Given the description of an element on the screen output the (x, y) to click on. 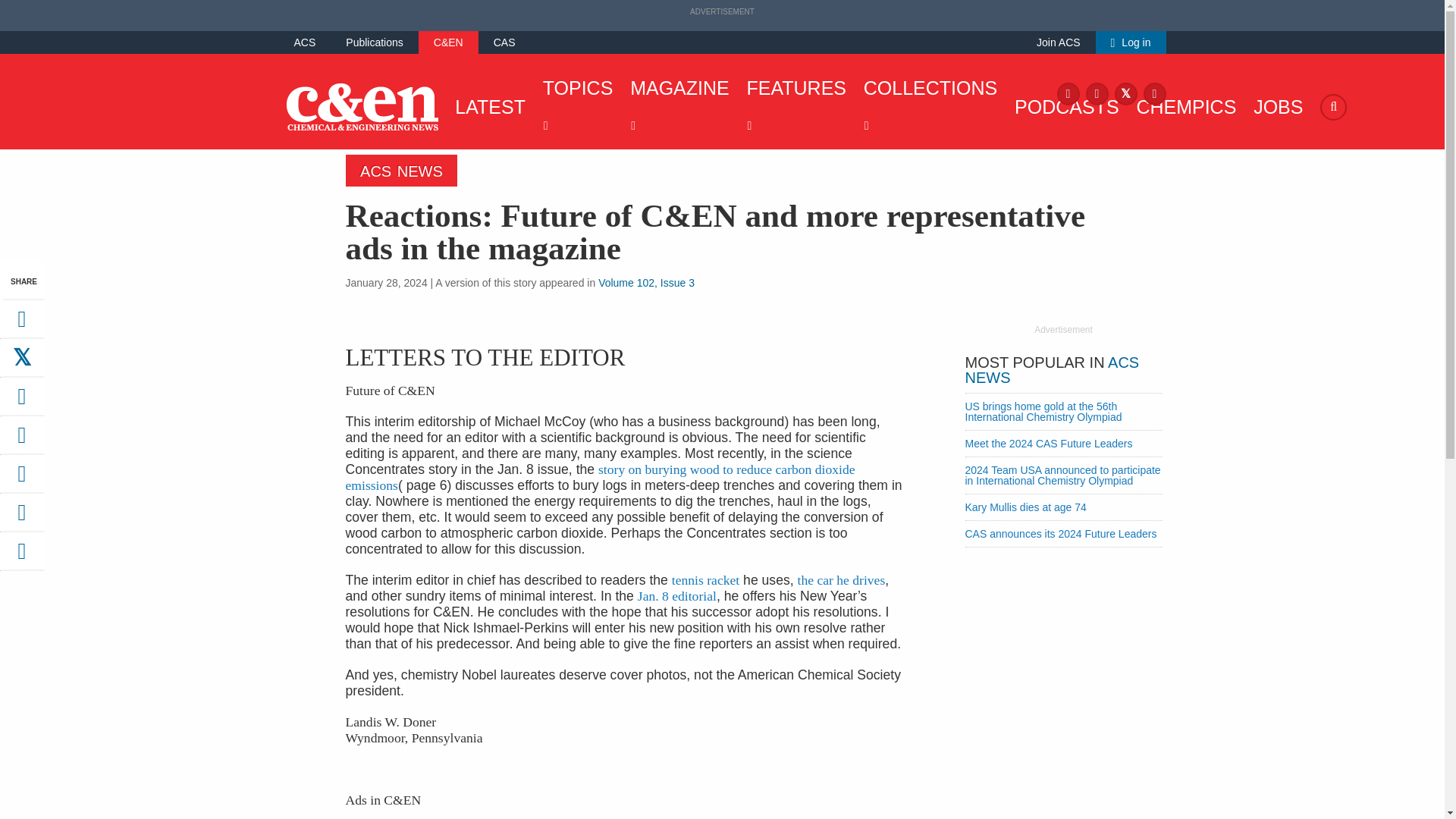
LATEST (485, 106)
Editorial: Of rackets and strings (705, 580)
X (1126, 92)
How burying wood reduces carbon dioxide emissions (601, 477)
Publications (374, 42)
WeChat (21, 479)
LinkedIn (1154, 92)
Facebook (1068, 92)
Log in (1130, 42)
Instagram (1097, 92)
